Given the description of an element on the screen output the (x, y) to click on. 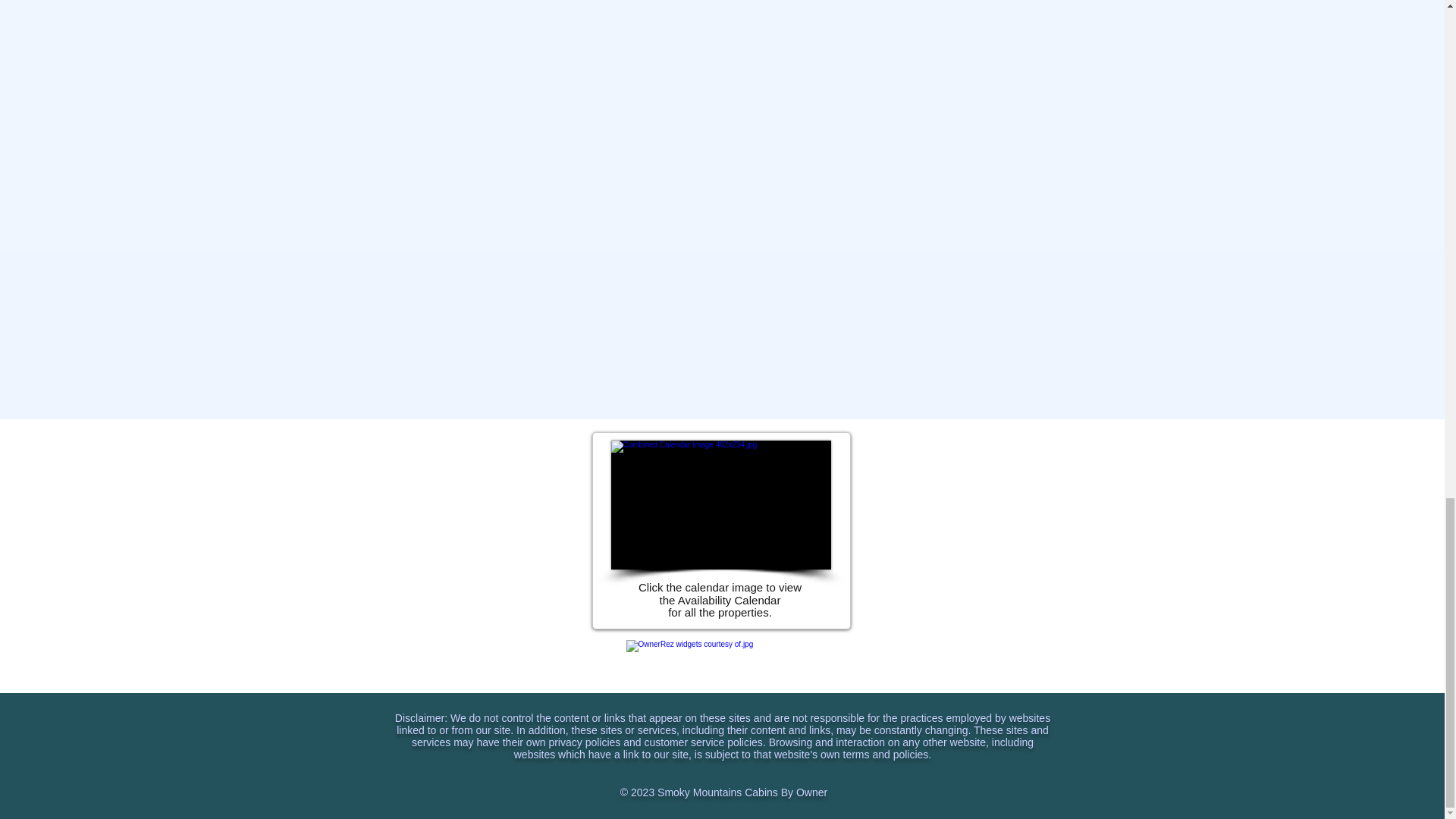
Availability Calendar (721, 504)
